Given the description of an element on the screen output the (x, y) to click on. 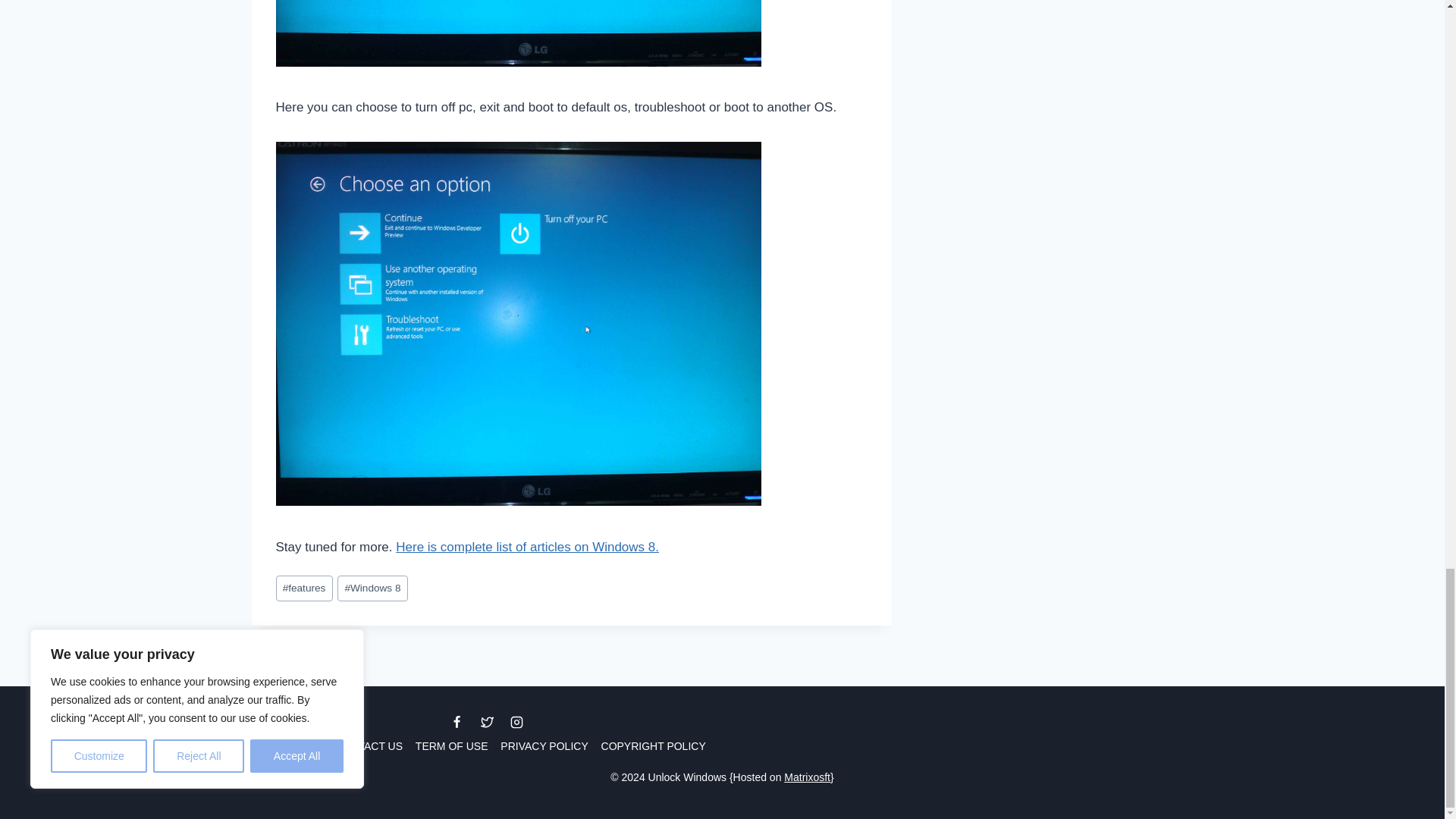
PRIVACY POLICY (544, 746)
COPYRIGHT POLICY (652, 746)
Matrixosft (806, 776)
Here is complete list of articles on Windows 8. (527, 546)
features (304, 588)
TERM OF USE (451, 746)
Windows 8 (372, 588)
CONTACT US (369, 746)
ABOUT US (295, 746)
